Given the description of an element on the screen output the (x, y) to click on. 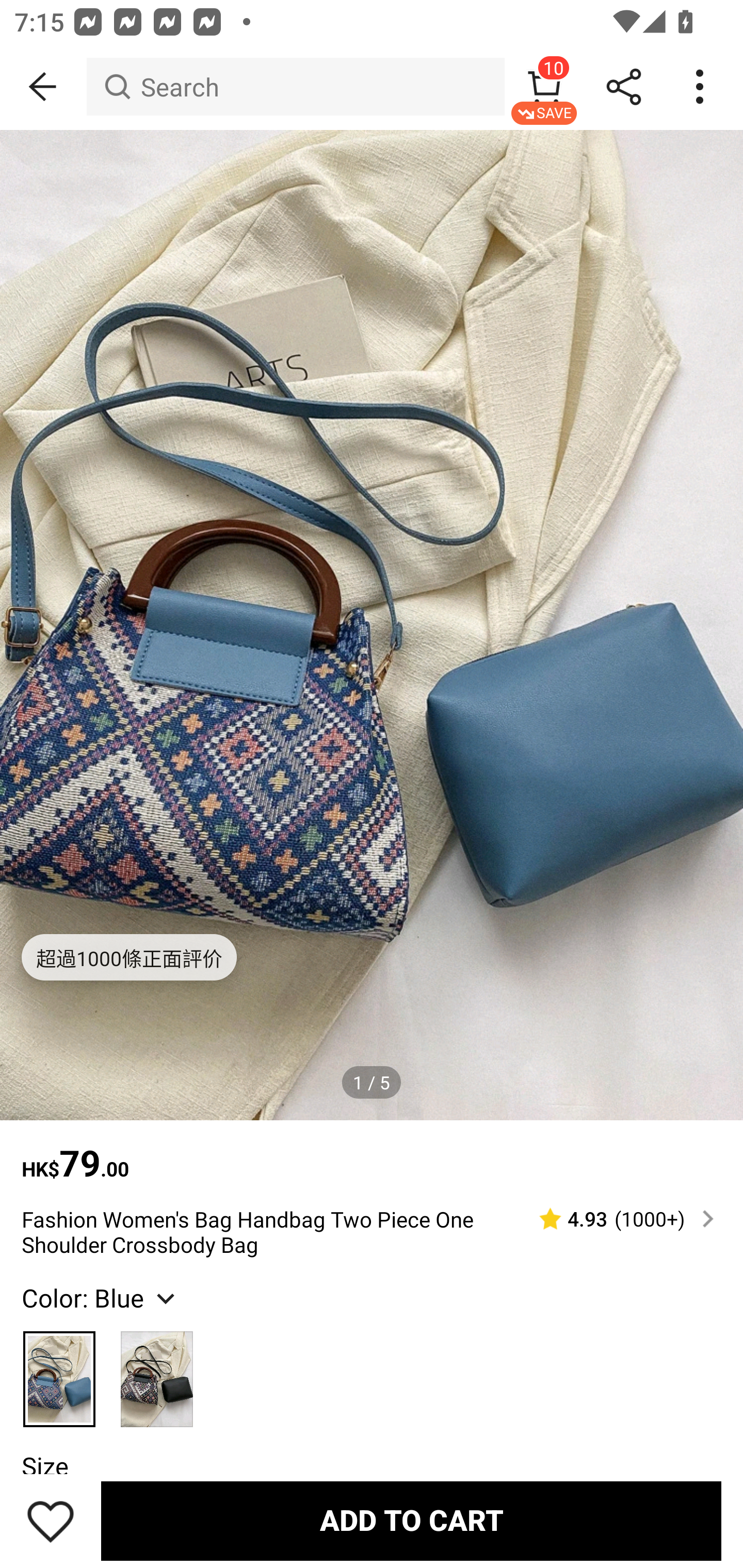
BACK (43, 86)
10 SAVE (543, 87)
Search (295, 87)
1 / 5 (371, 1082)
HK$79.00 (371, 1152)
4.93 (1000‎+) (617, 1219)
Color: Blue (100, 1297)
Blue (59, 1369)
Black (156, 1369)
Size (44, 1465)
ADD TO CART (411, 1520)
Save (50, 1520)
